Given the description of an element on the screen output the (x, y) to click on. 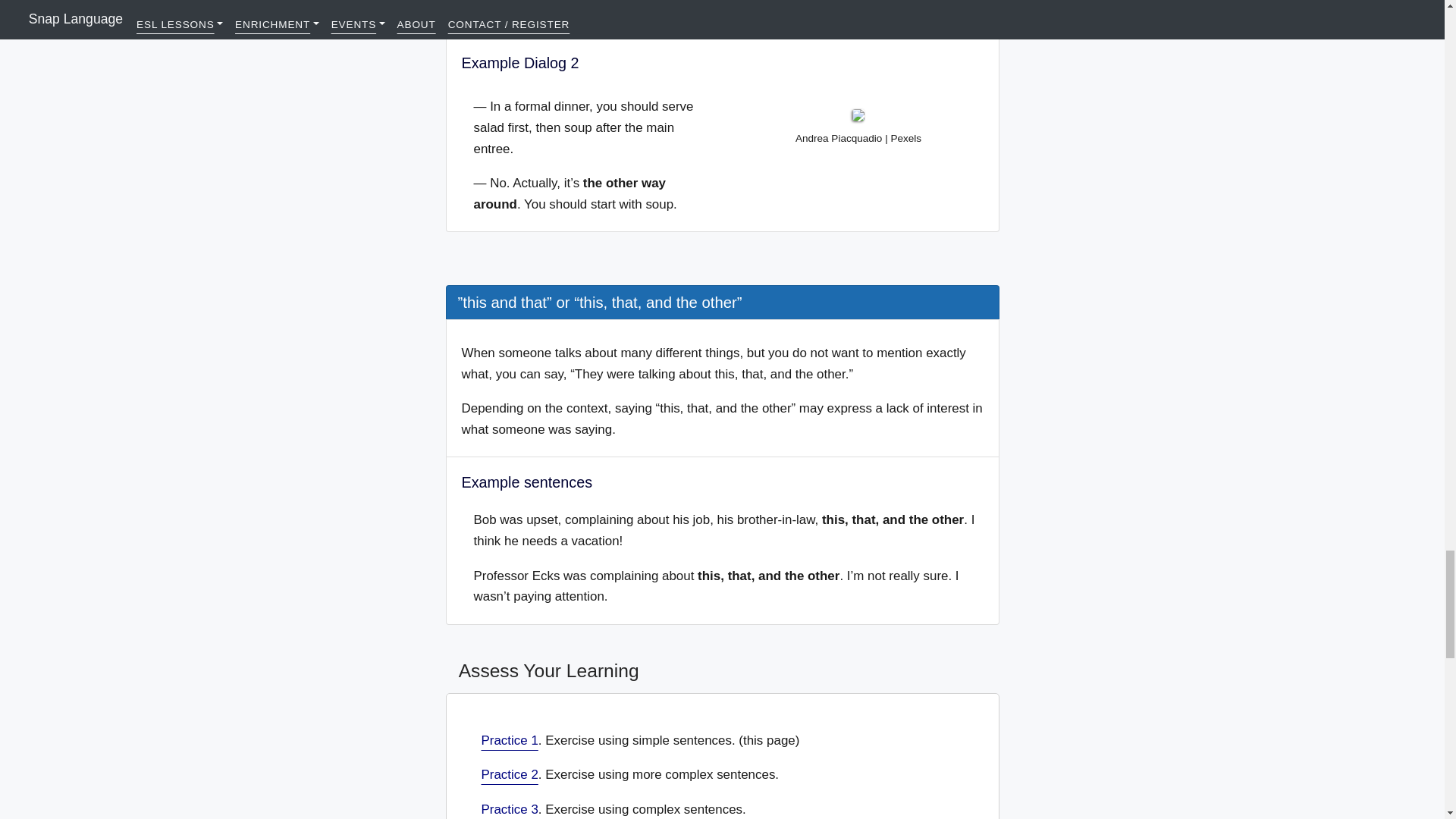
Practice 1 (508, 740)
Practice 3 (508, 809)
Practice 2 (508, 774)
Back to the top. (460, 260)
